Given the description of an element on the screen output the (x, y) to click on. 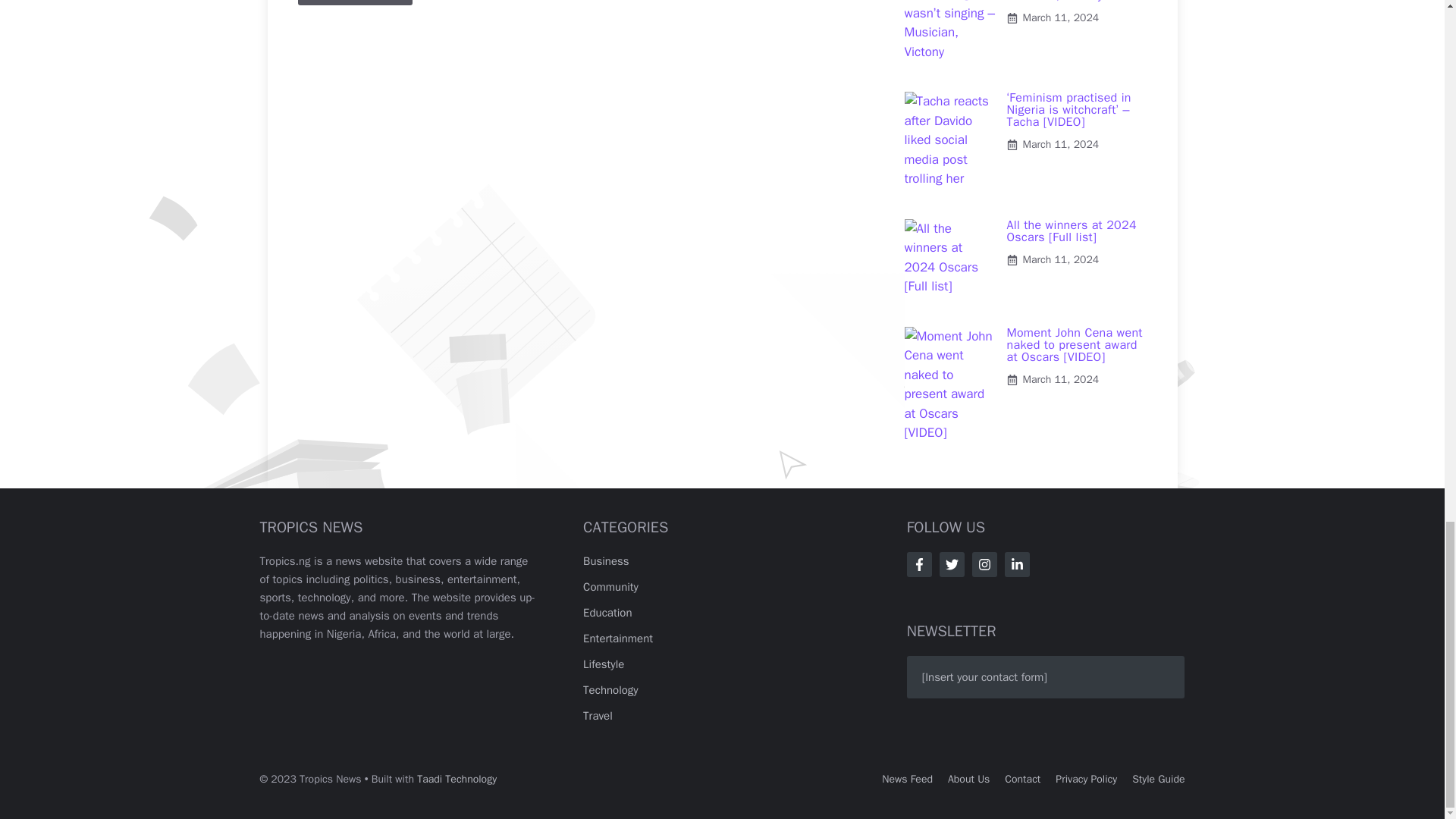
Post Comment (354, 2)
Scroll back to top (1406, 75)
Post Comment (354, 2)
